Given the description of an element on the screen output the (x, y) to click on. 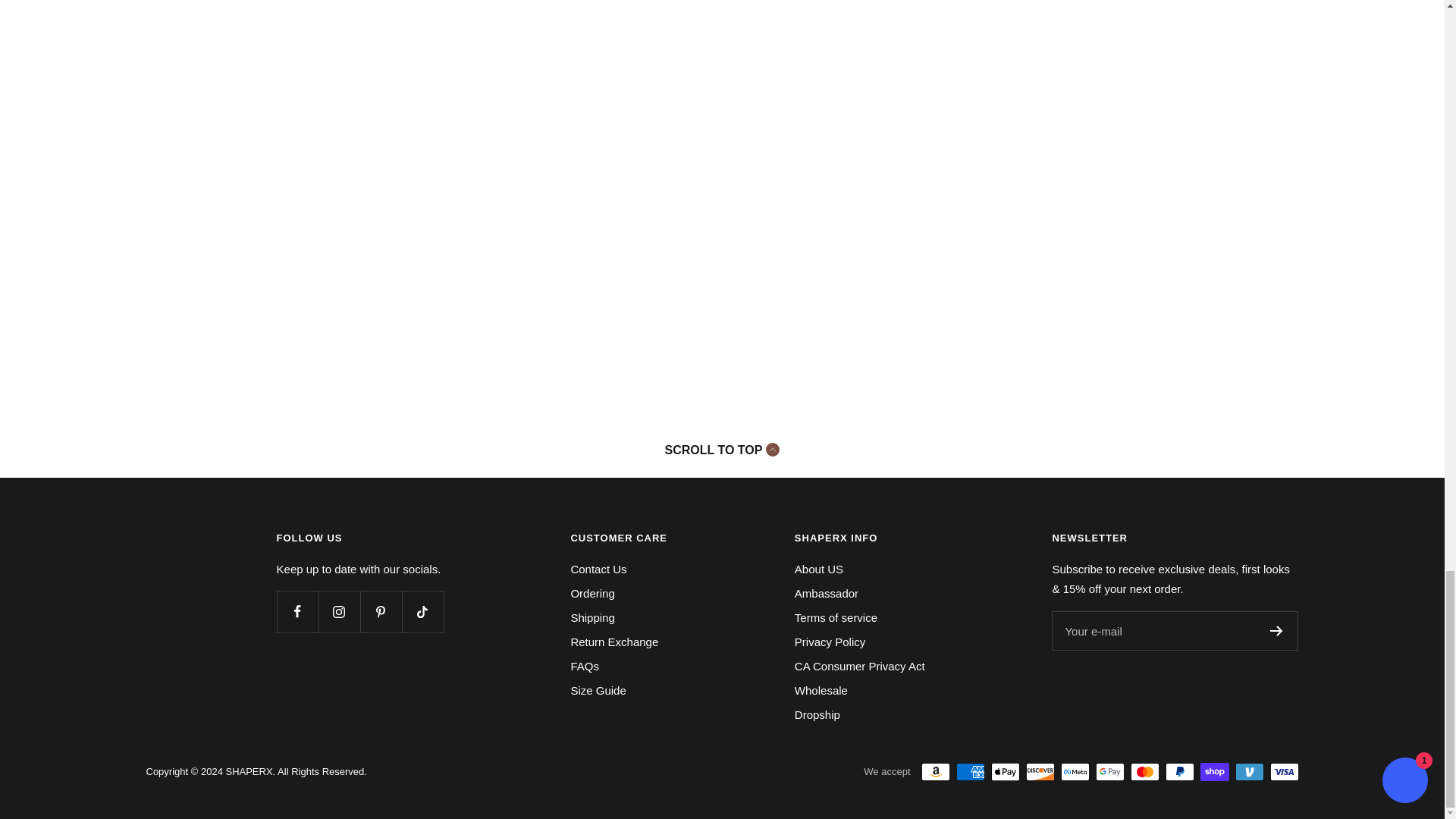
Register (1275, 630)
